Given the description of an element on the screen output the (x, y) to click on. 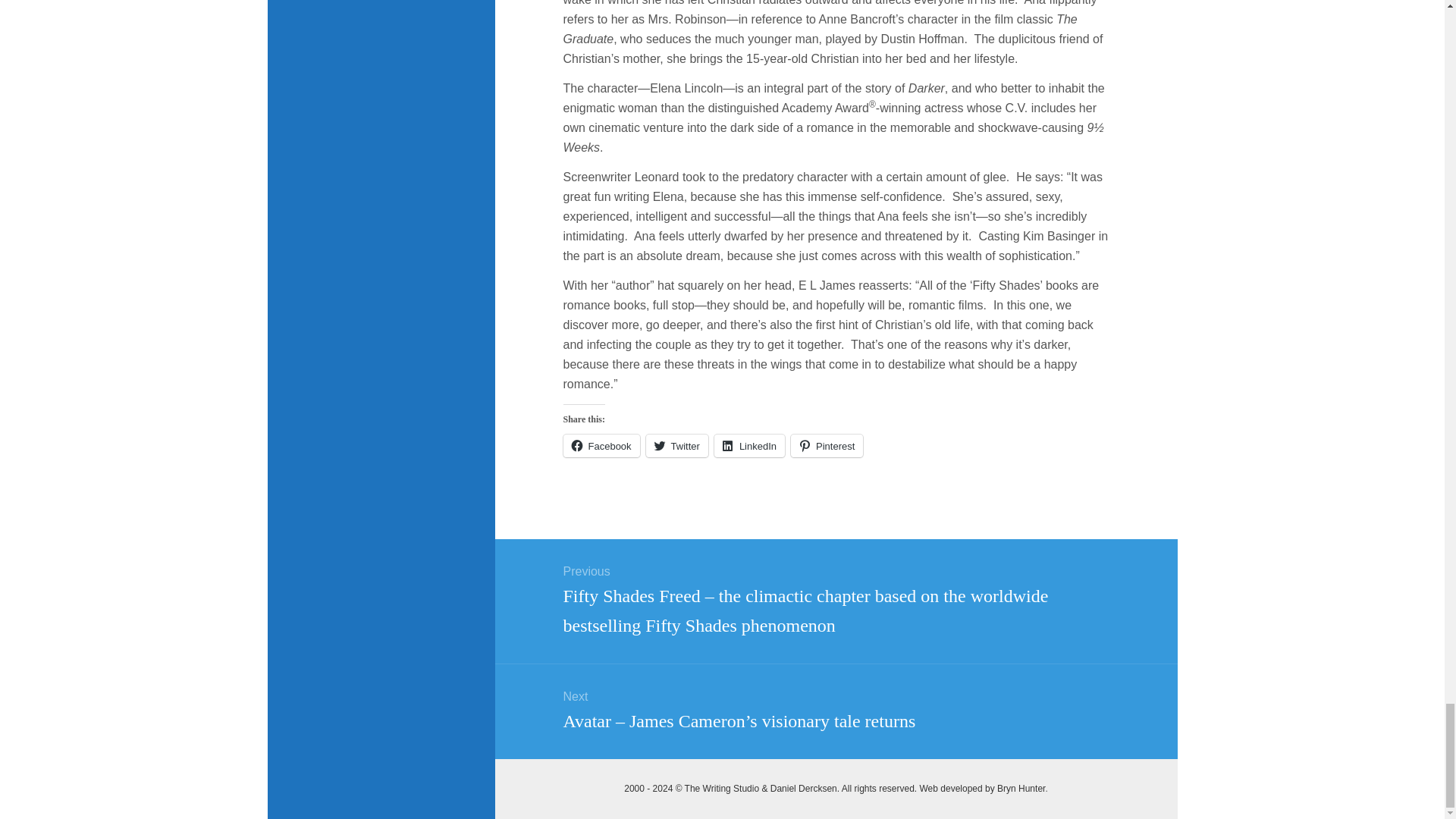
Click to share on Pinterest (826, 445)
Pinterest (826, 445)
LinkedIn (749, 445)
Click to share on Facebook (600, 445)
Click to share on Twitter (676, 445)
Click to share on LinkedIn (749, 445)
Twitter (676, 445)
Facebook (600, 445)
